Given the description of an element on the screen output the (x, y) to click on. 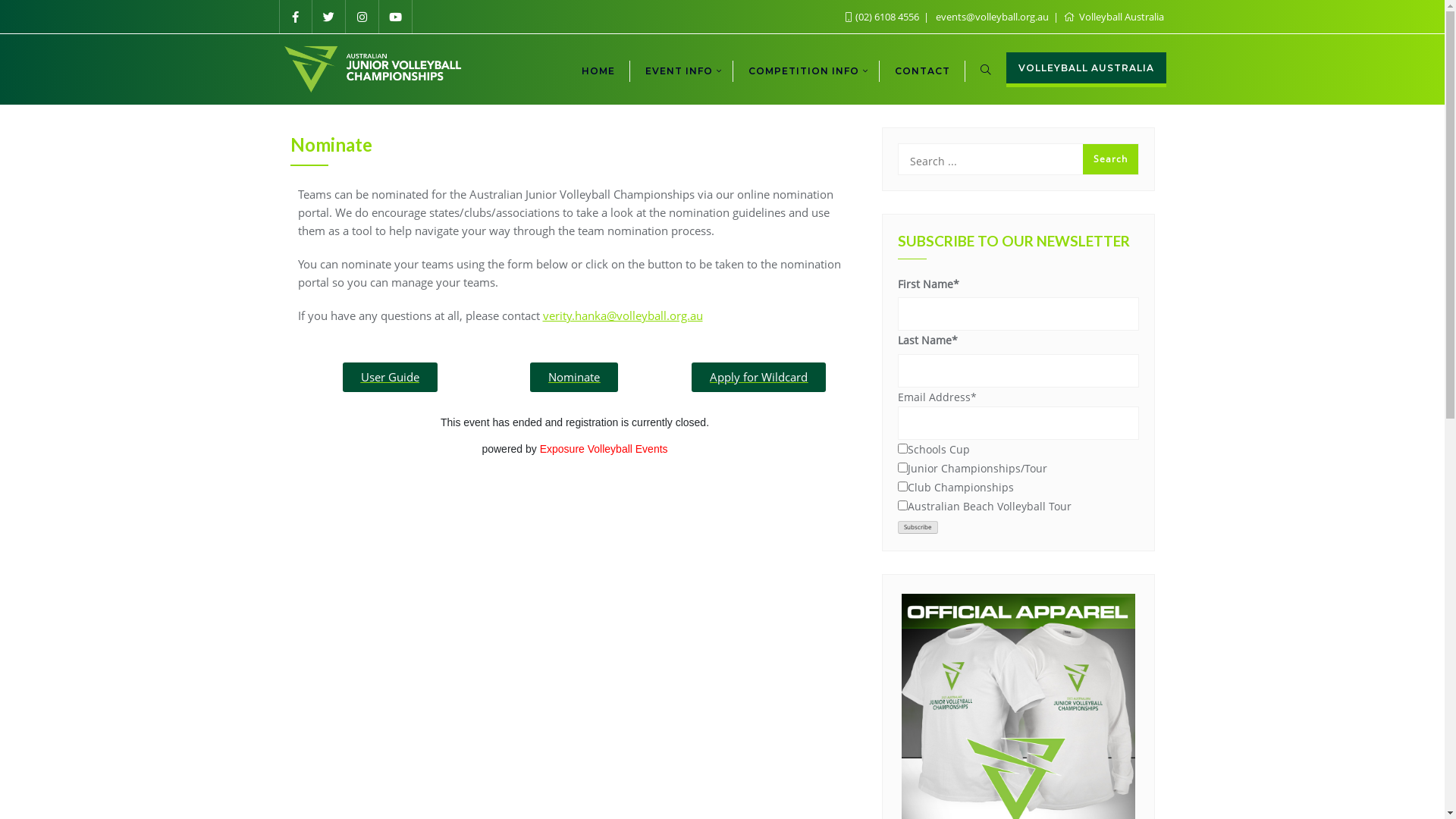
Subscribe Element type: text (917, 526)
EVENT INFO Element type: text (680, 69)
Apply for Wildcard Element type: text (758, 377)
HOME Element type: text (597, 69)
Search Element type: text (1110, 159)
VOLLEYBALL AUSTRALIA Element type: text (1085, 69)
verity.hanka@volleyball.org.au Element type: text (622, 315)
CONTACT Element type: text (922, 69)
COMPETITION INFO Element type: text (805, 69)
Volleyball Australia Element type: text (1113, 16)
Nominate Element type: text (574, 377)
events@volleyball.org.au Element type: text (992, 16)
User Guide Element type: text (389, 377)
(02) 6108 4556 Element type: text (882, 16)
